Given the description of an element on the screen output the (x, y) to click on. 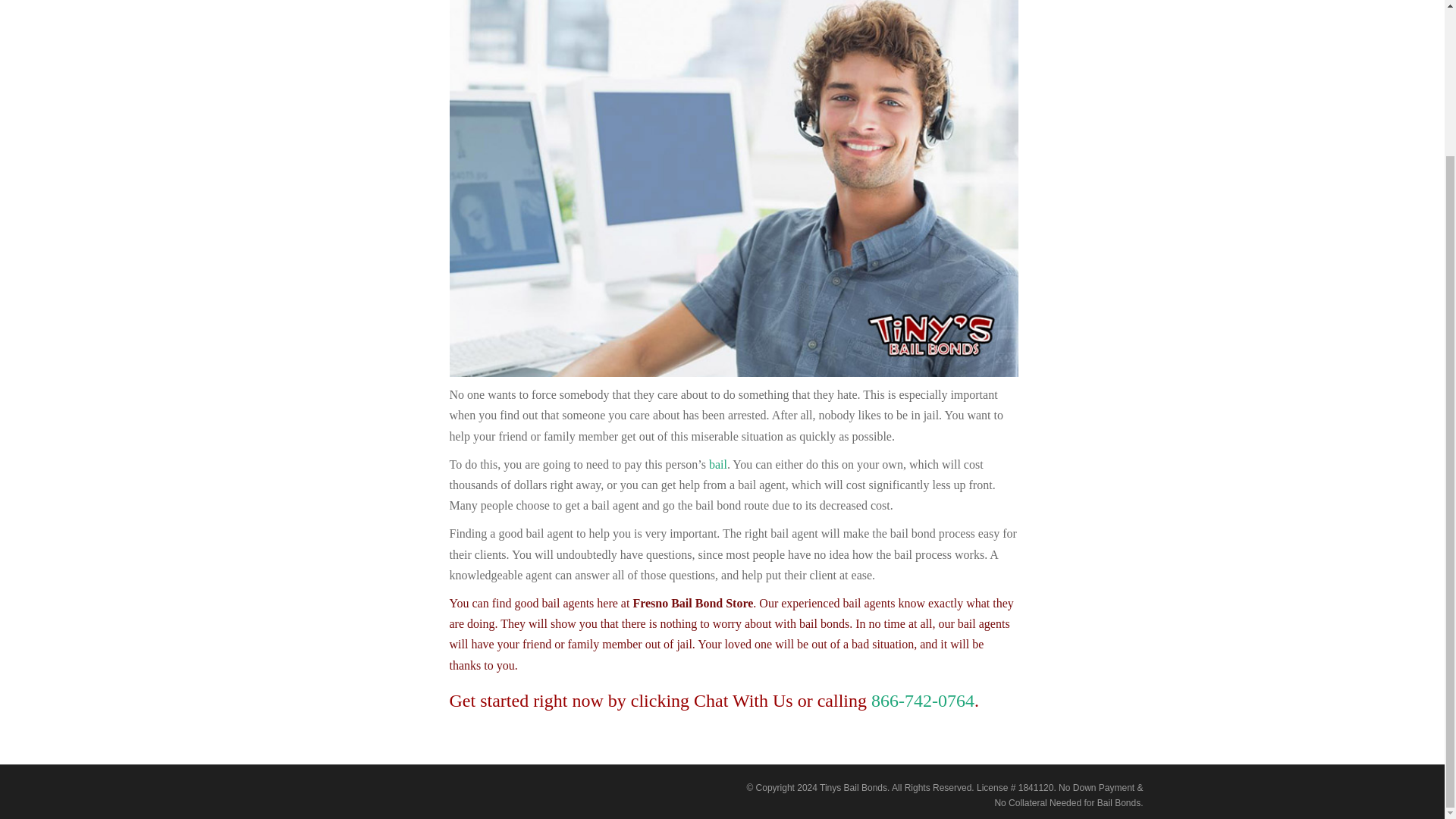
866-742-0764 (922, 700)
Fresno Bail Bond Store (922, 700)
bail (717, 463)
